Given the description of an element on the screen output the (x, y) to click on. 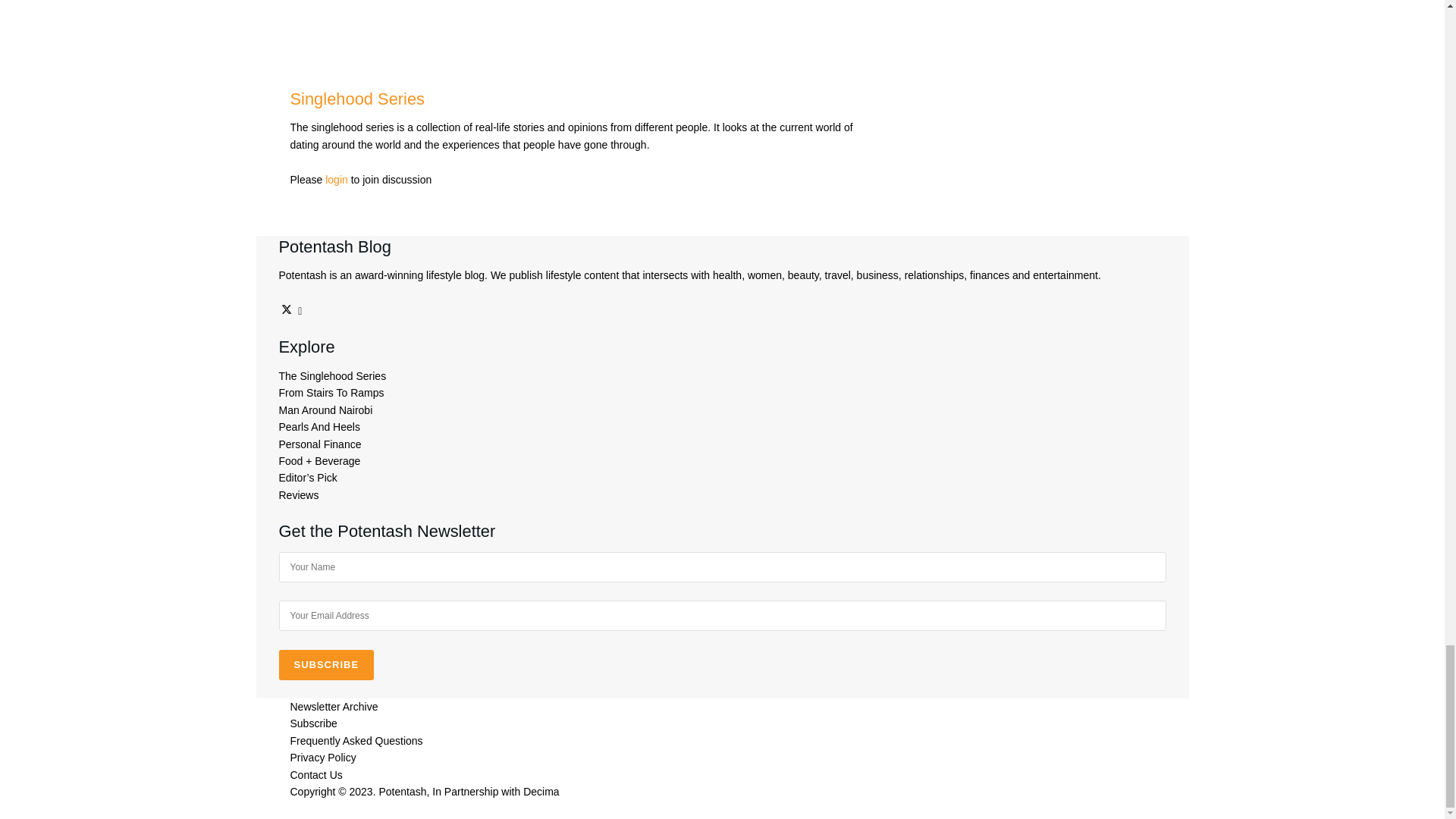
Subscribe (326, 665)
